Given the description of an element on the screen output the (x, y) to click on. 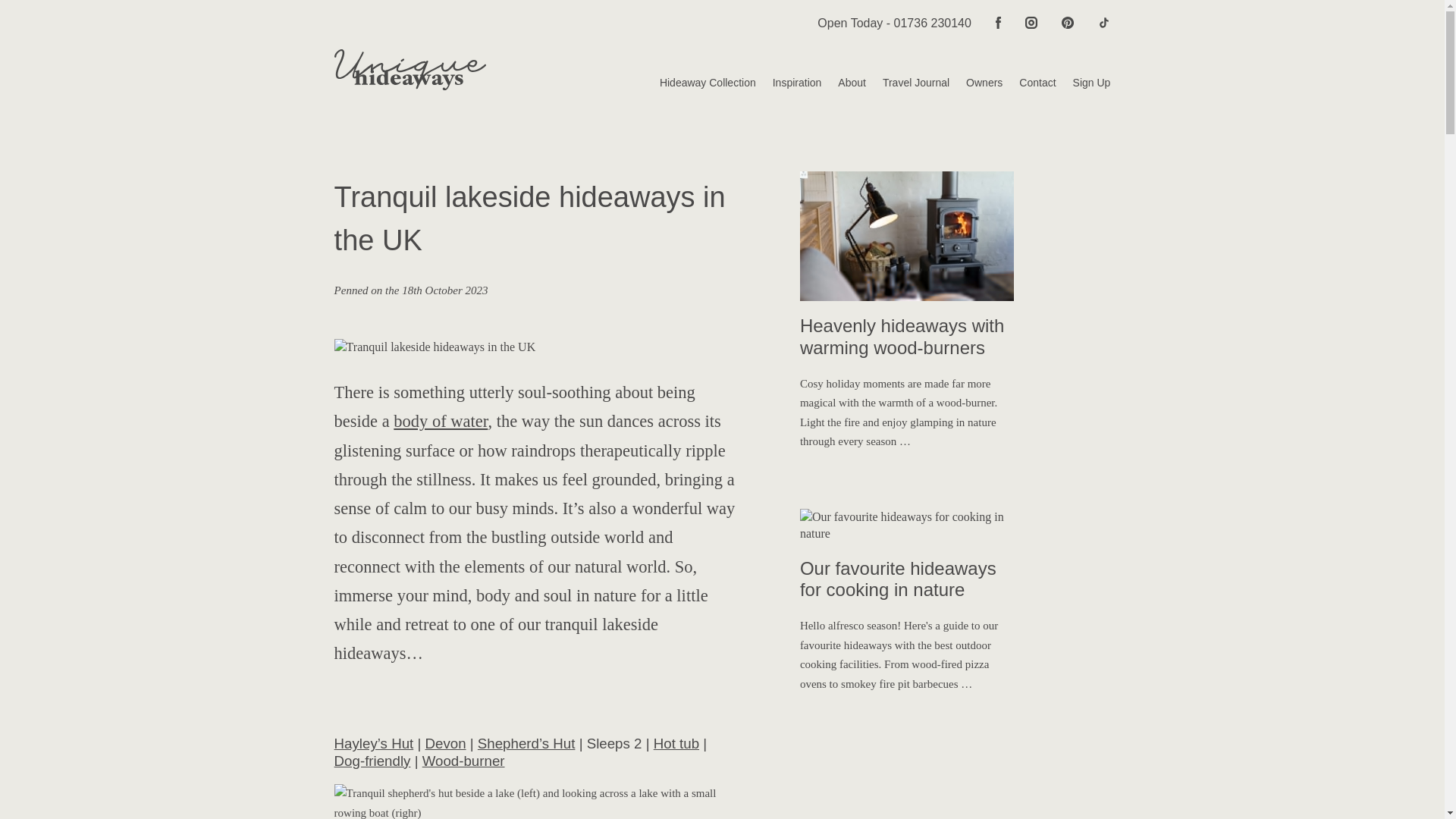
Owners (976, 83)
Dog-friendly (372, 760)
Hayley's Hut, Devon (536, 801)
Contact (1029, 83)
Wood-burner (463, 760)
Devon (445, 743)
Travel Journal (907, 83)
Inspiration (788, 83)
About (843, 83)
Sign Up (1083, 83)
